Given the description of an element on the screen output the (x, y) to click on. 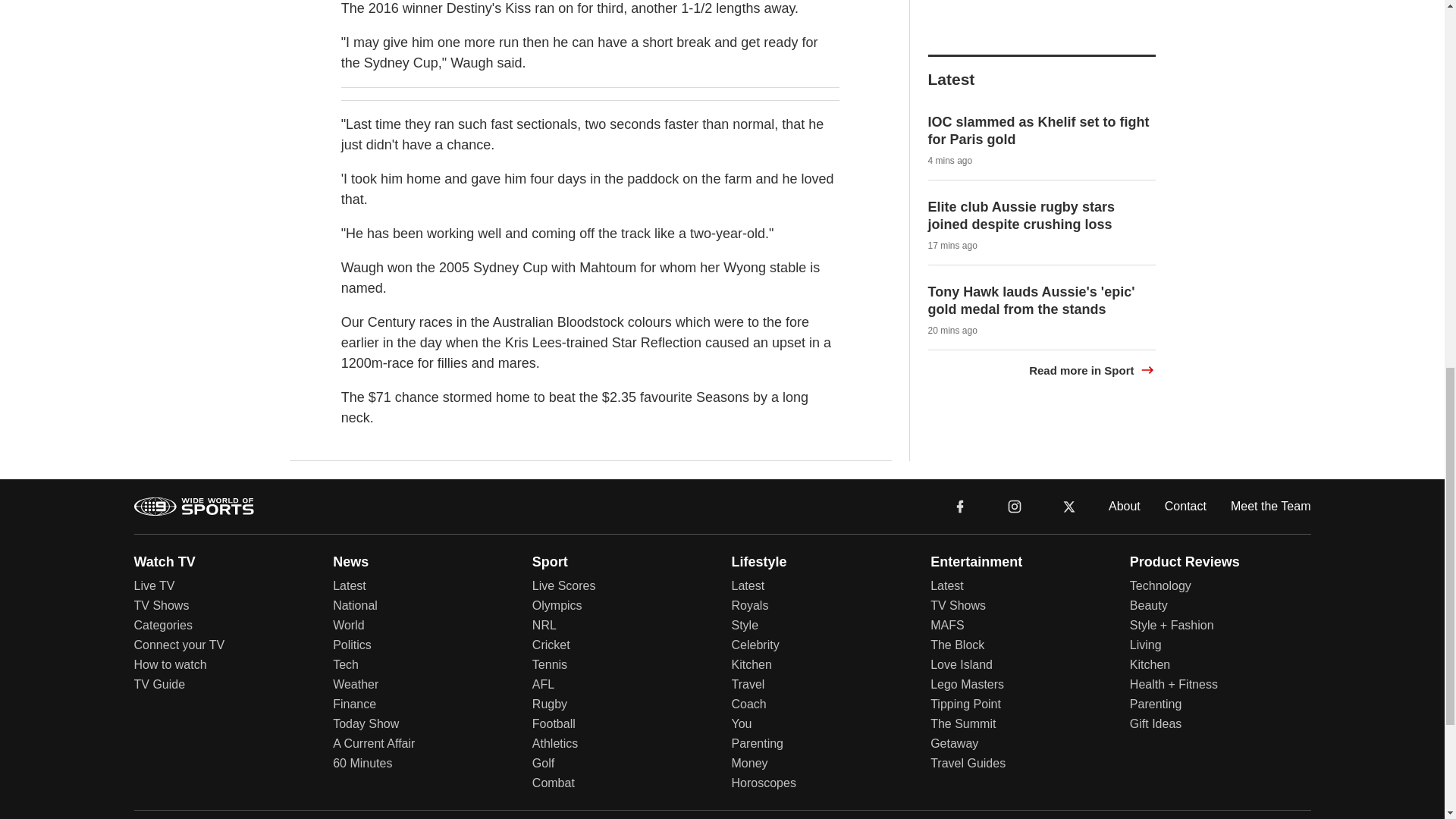
instagram (1014, 506)
instagram (1013, 505)
Categories (162, 625)
Meet the Team (1270, 504)
Watch TV (164, 560)
facebook (959, 505)
x (1069, 505)
Contact (1185, 504)
About (1124, 504)
x (1069, 505)
